Given the description of an element on the screen output the (x, y) to click on. 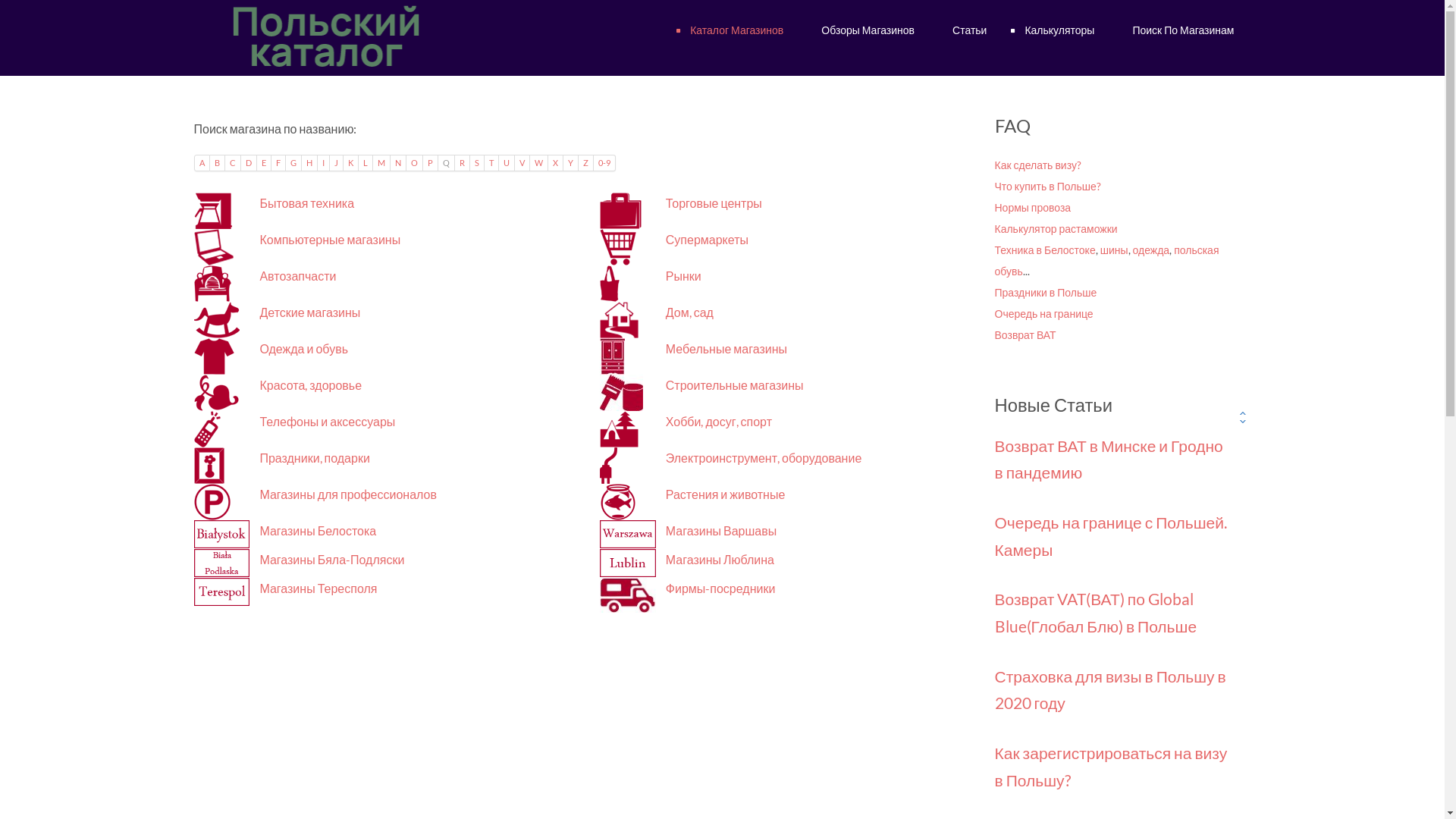
I Element type: text (322, 162)
O Element type: text (414, 162)
Q Element type: text (446, 162)
C Element type: text (232, 162)
0-9 Element type: text (604, 162)
N Element type: text (397, 162)
S Element type: text (477, 162)
A Element type: text (202, 162)
P Element type: text (430, 162)
L Element type: text (364, 162)
X Element type: text (554, 162)
B Element type: text (216, 162)
T Element type: text (490, 162)
K Element type: text (349, 162)
J Element type: text (335, 162)
W Element type: text (538, 162)
Y Element type: text (569, 162)
Z Element type: text (585, 162)
G Element type: text (293, 162)
M Element type: text (381, 162)
E Element type: text (263, 162)
F Element type: text (278, 162)
R Element type: text (462, 162)
V Element type: text (521, 162)
U Element type: text (506, 162)
H Element type: text (309, 162)
D Element type: text (249, 162)
